Given the description of an element on the screen output the (x, y) to click on. 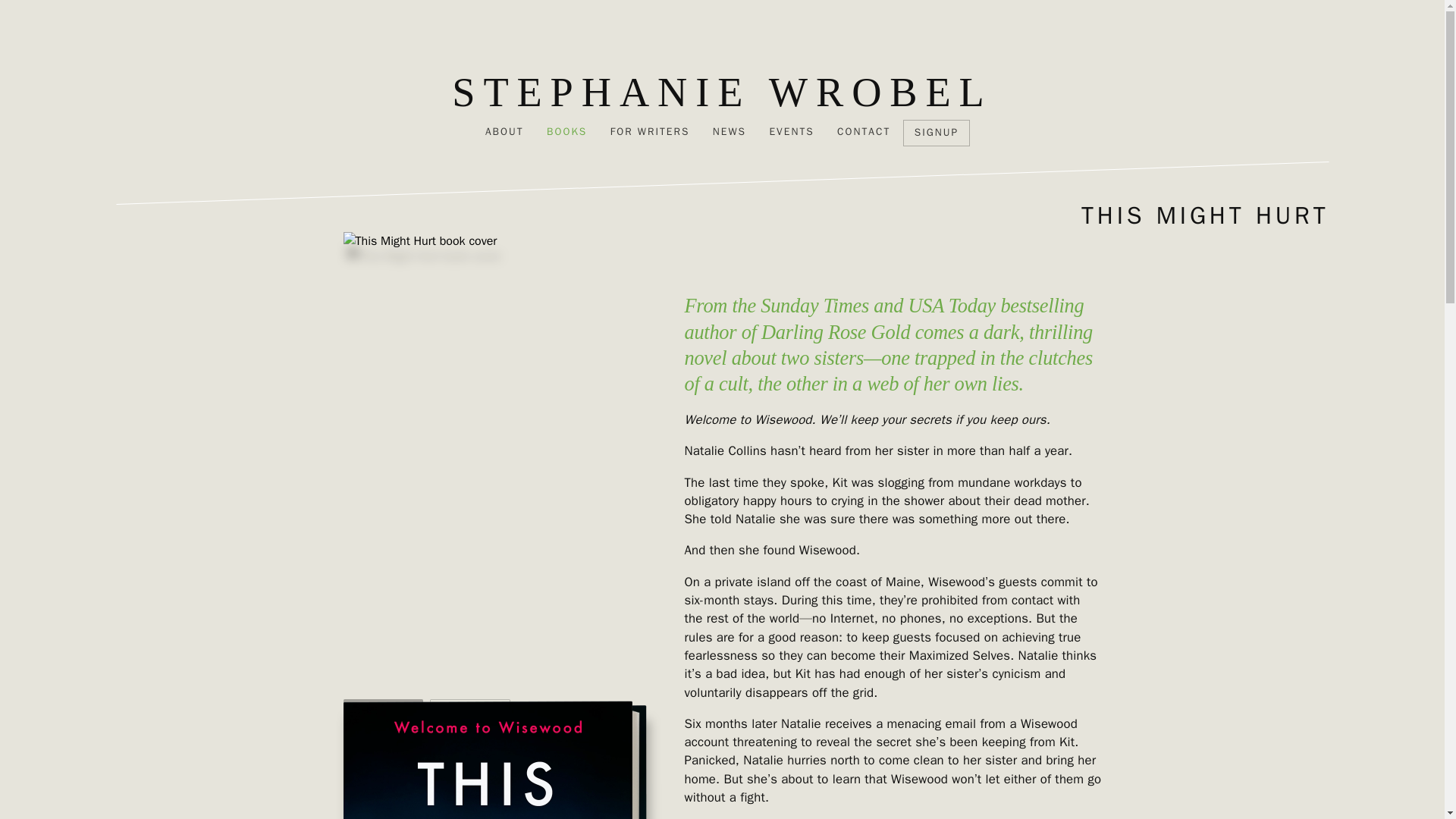
CONTACT (863, 132)
STEPHANIE WROBEL (721, 92)
EVENTS (791, 132)
NEWS (729, 132)
ABOUT (504, 132)
FOR WRITERS (649, 132)
BOOKS (566, 132)
SIGNUP (935, 132)
